Given the description of an element on the screen output the (x, y) to click on. 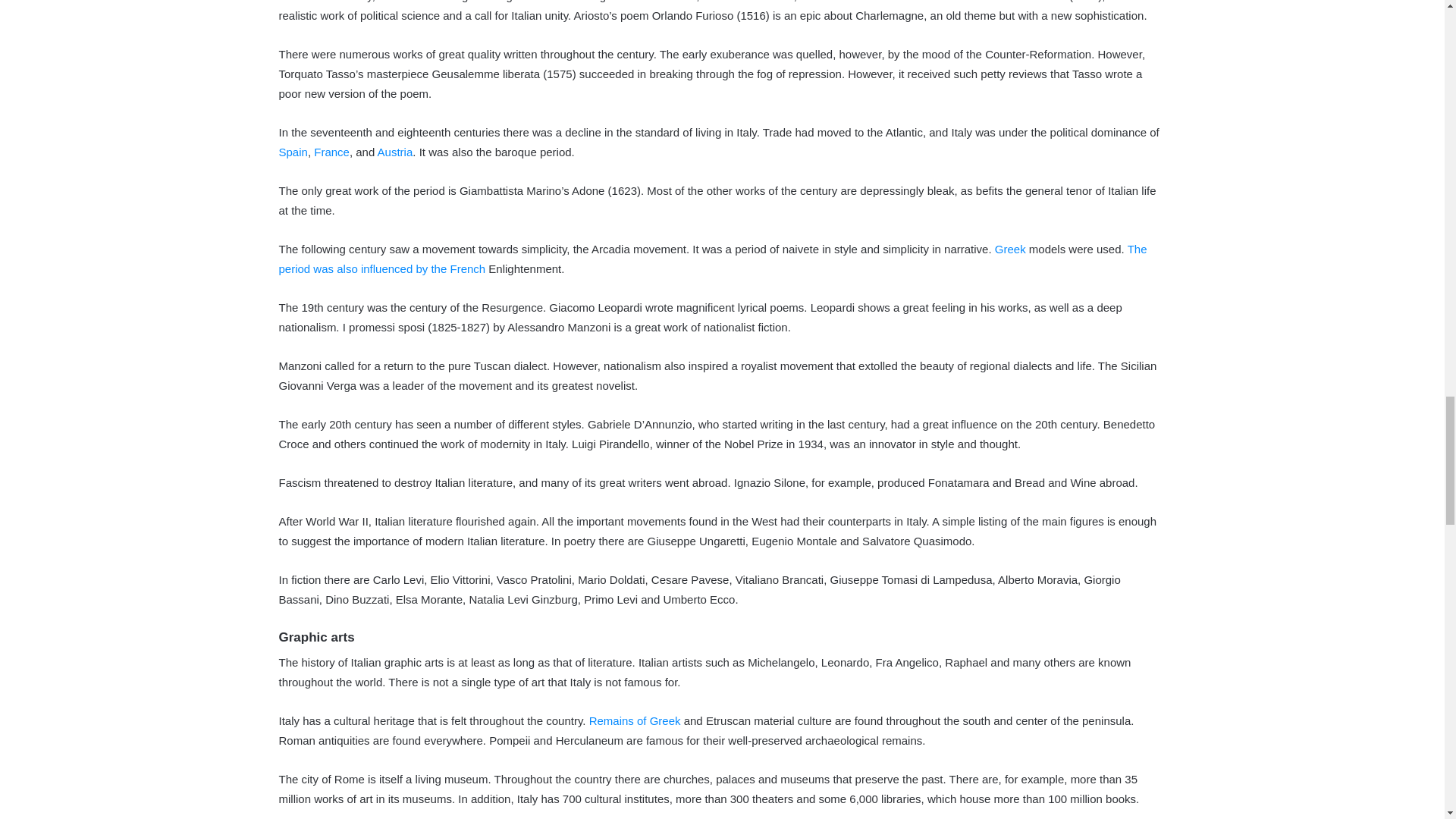
Austria (395, 151)
Greek (1010, 248)
Remains of Greek (635, 720)
France (331, 151)
The period was also influenced by the French (713, 258)
Spain (293, 151)
